Given the description of an element on the screen output the (x, y) to click on. 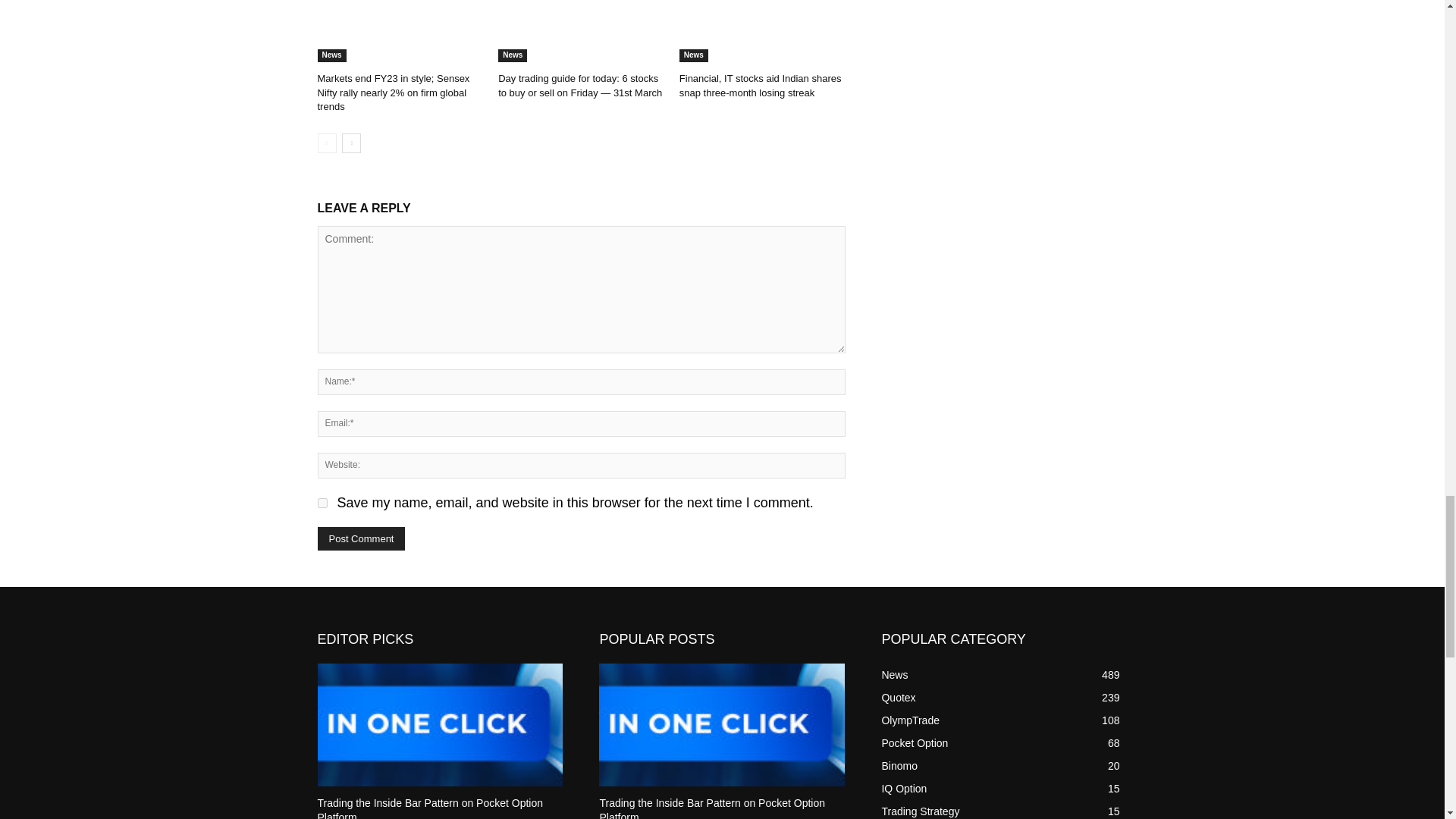
Post Comment (360, 538)
yes (321, 502)
